Given the description of an element on the screen output the (x, y) to click on. 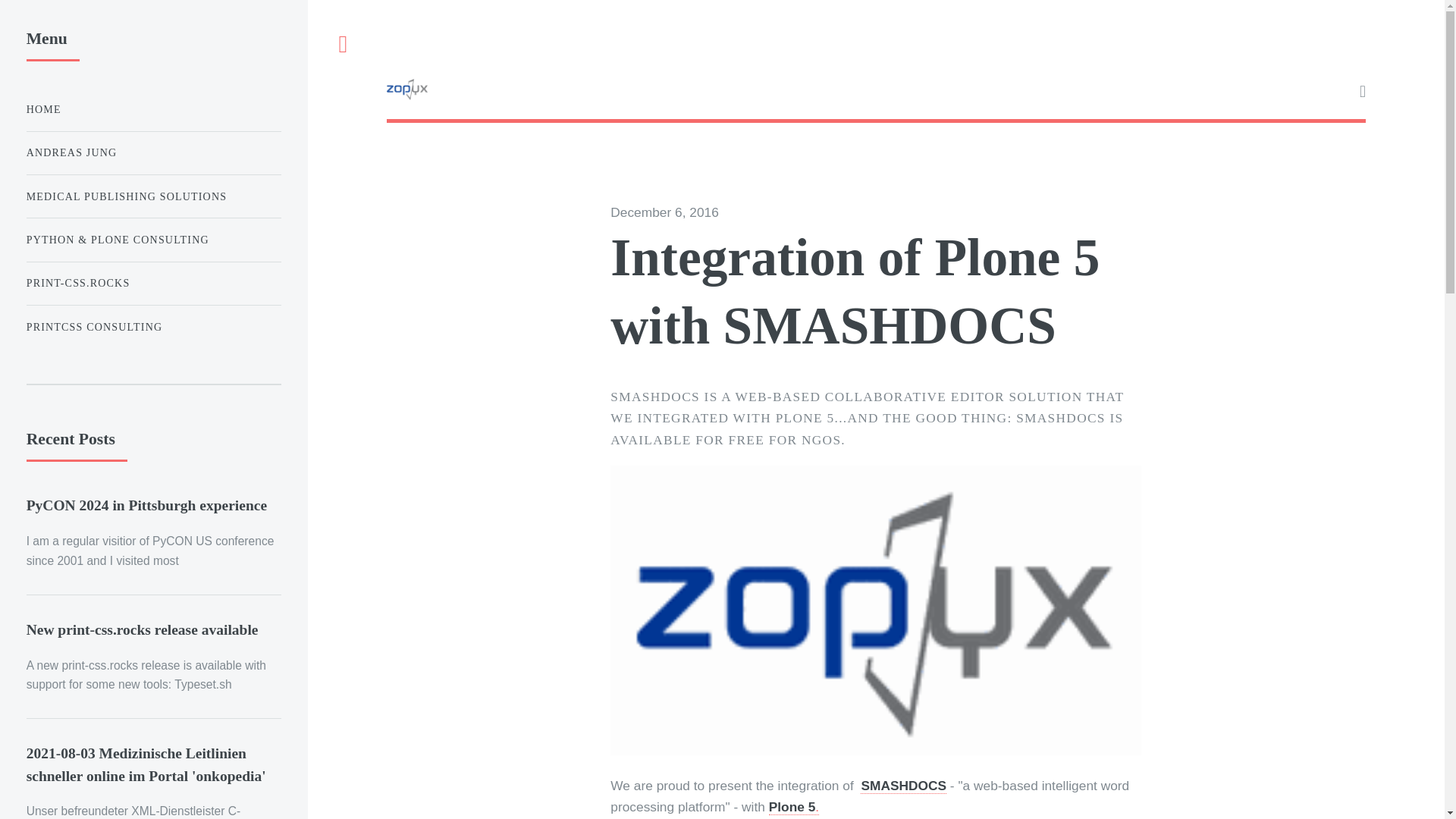
SMASHDOCS (903, 785)
Plone 5. (793, 806)
ANDREAS JUNG (153, 153)
PRINTCSS CONSULTING (153, 327)
PyCON 2024 in Pittsburgh experience (146, 505)
New print-css.rocks release available (142, 629)
MEDICAL PUBLISHING SOLUTIONS (153, 196)
PRINT-CSS.ROCKS (153, 283)
HOME (153, 109)
